Given the description of an element on the screen output the (x, y) to click on. 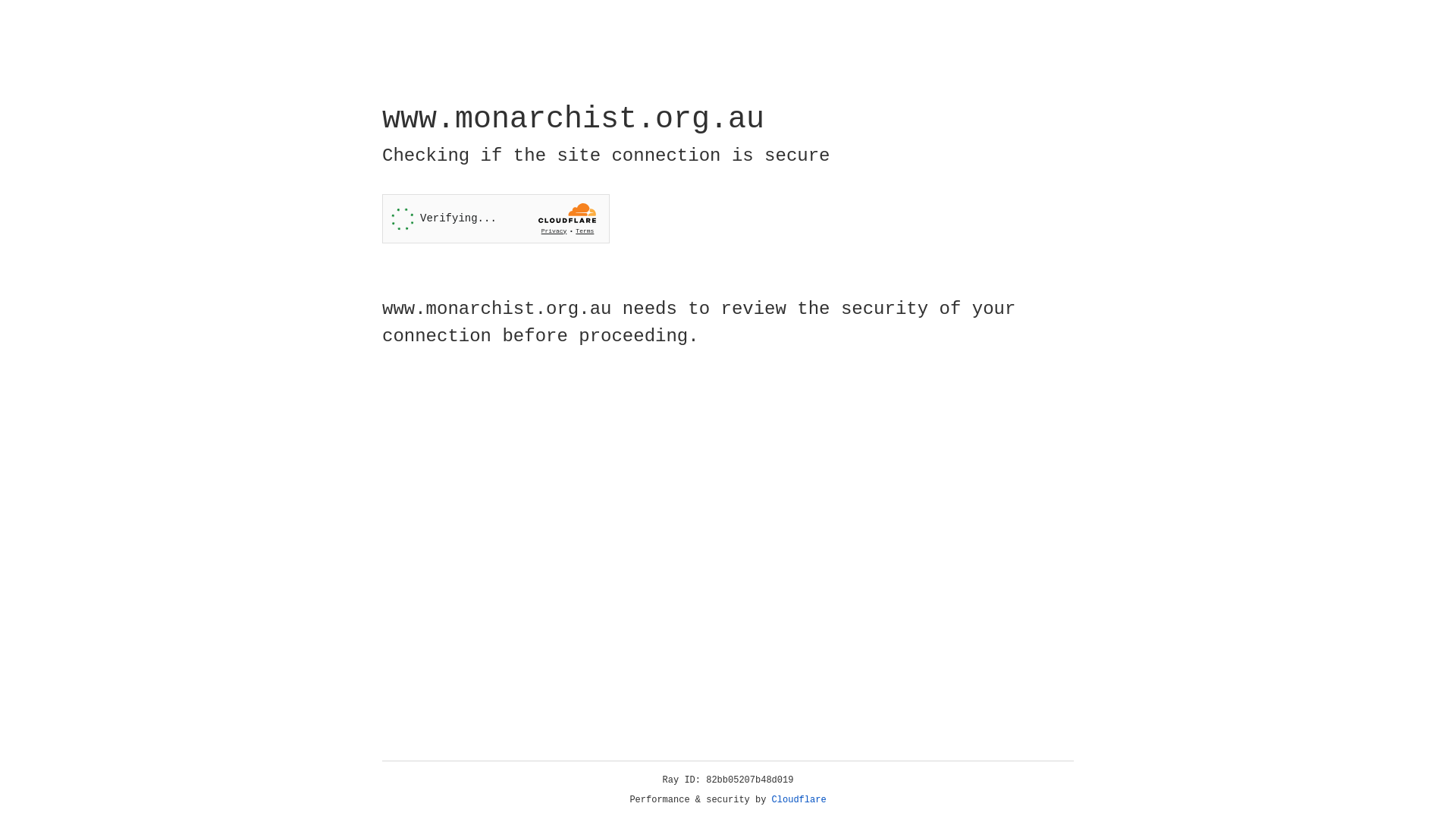
Widget containing a Cloudflare security challenge Element type: hover (495, 218)
Cloudflare Element type: text (798, 799)
